Given the description of an element on the screen output the (x, y) to click on. 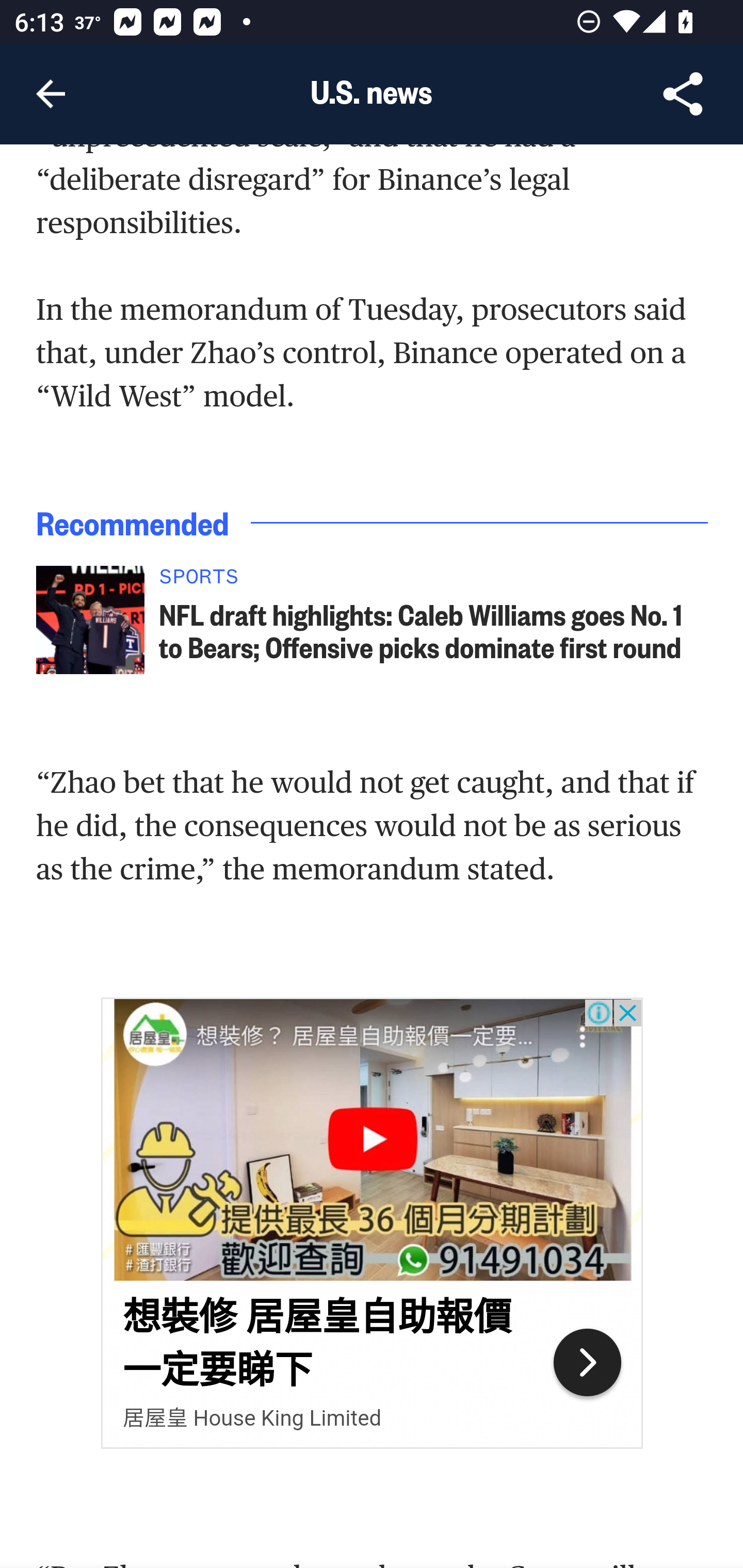
Navigate up (50, 93)
Share Article, button (683, 94)
SPORTS (434, 582)
nfl-draft-2024-live-updates-rcna148996 (90, 622)
想裝修 居屋皇自助報價 一定要睇下 想裝修 居屋皇自助報價 一定要睇下 (317, 1344)
居屋皇 House King Limited (252, 1419)
